Given the description of an element on the screen output the (x, y) to click on. 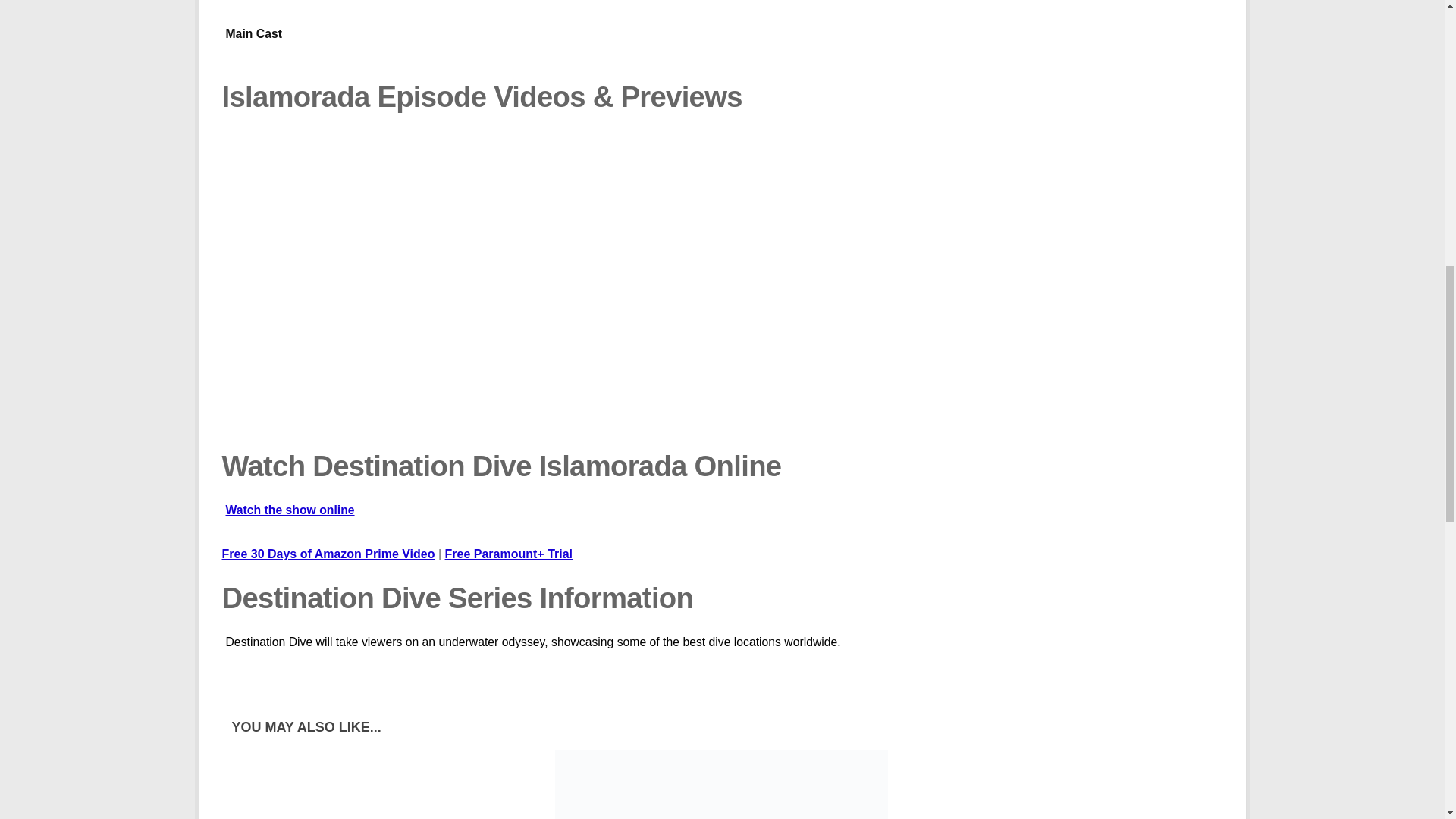
YouTube video player (437, 284)
Watch the show online (722, 519)
Main Cast (722, 46)
